Given the description of an element on the screen output the (x, y) to click on. 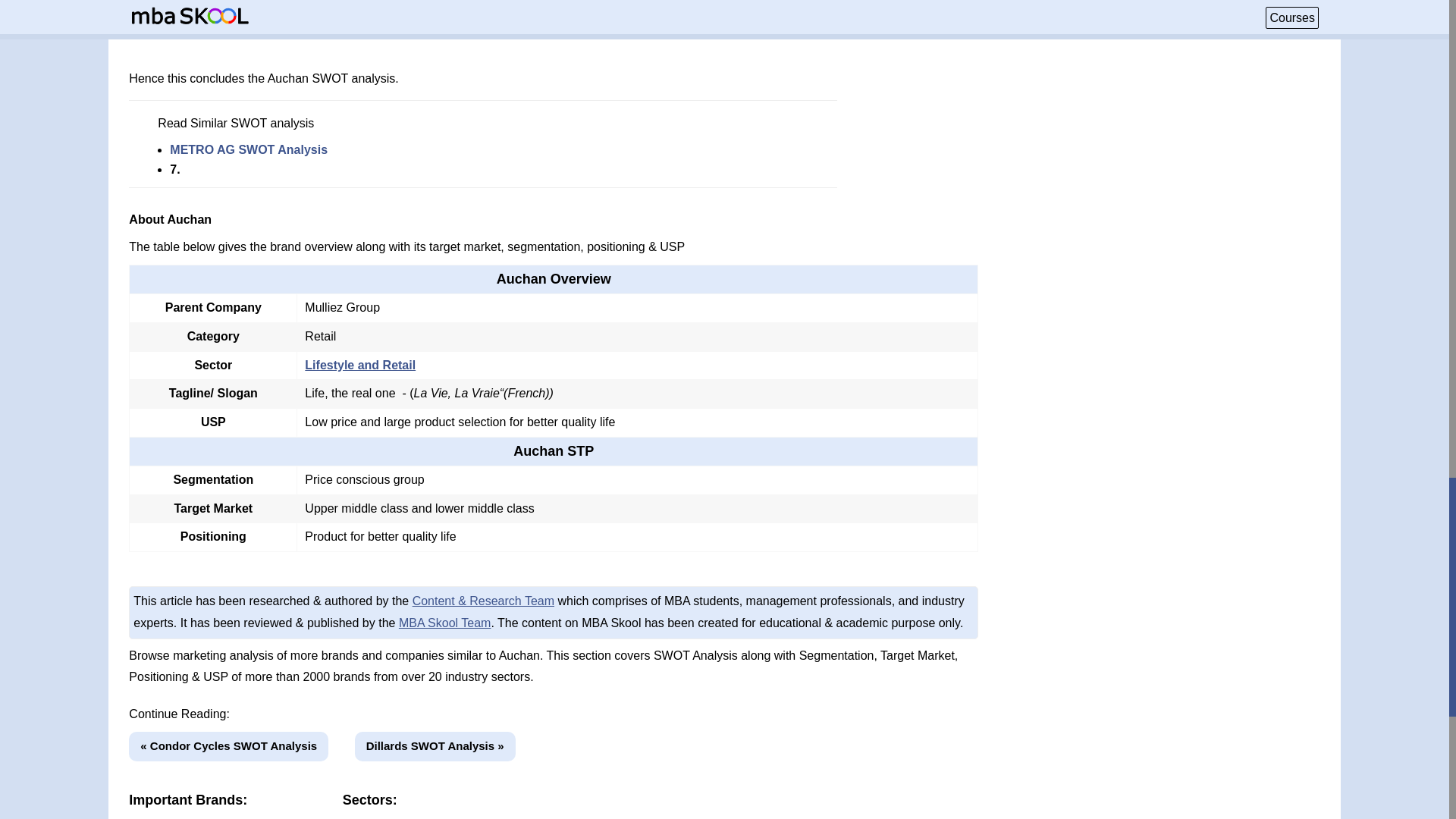
Lifestyle and Retail (359, 364)
METRO AG SWOT Analysis (248, 149)
Automobiles (391, 818)
Condor Cycles SWOT Analysis (229, 746)
MBA Skool Team (445, 622)
Dillards SWOT Analysis (435, 746)
